Given the description of an element on the screen output the (x, y) to click on. 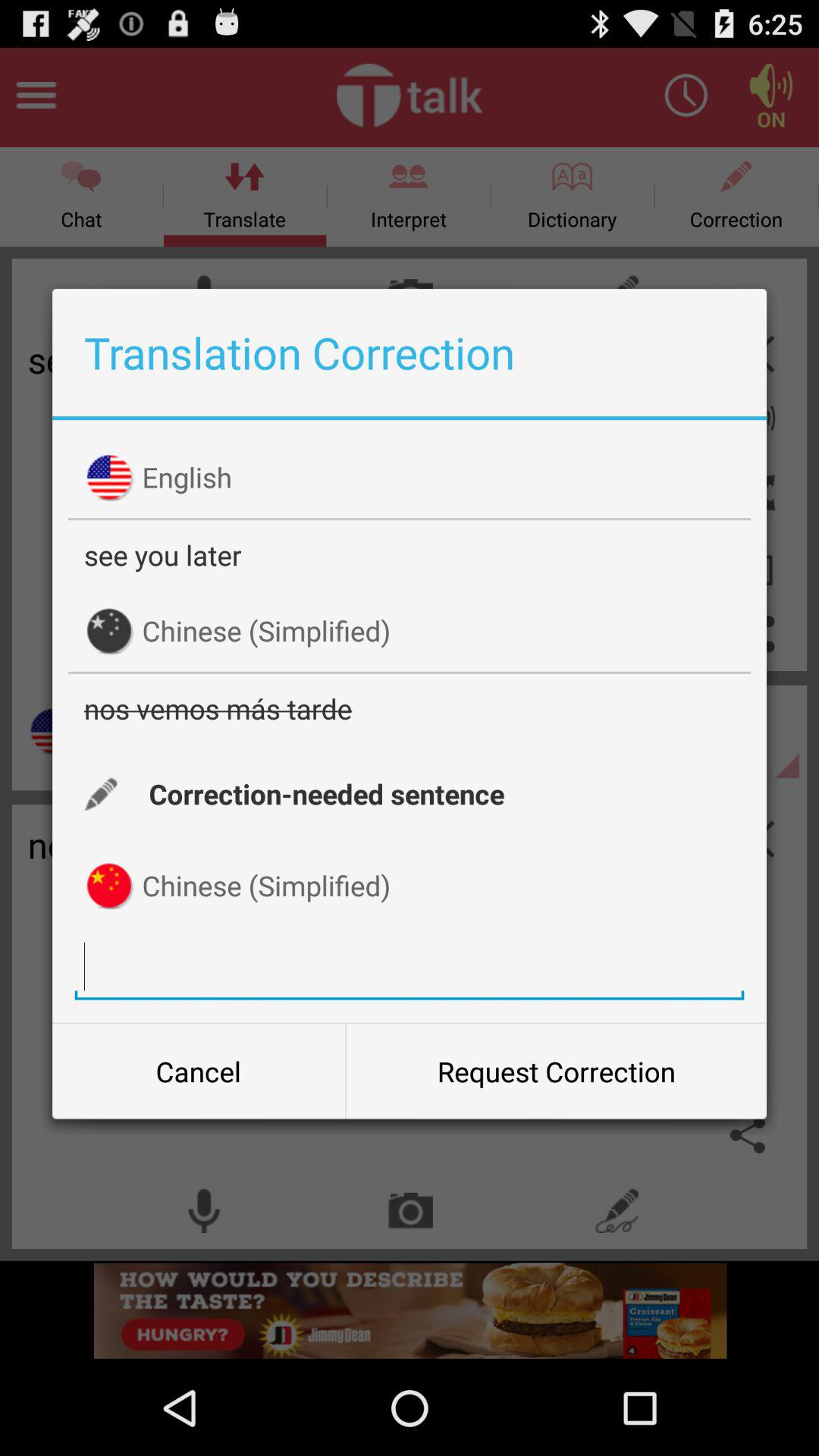
choose request correction item (556, 1071)
